Given the description of an element on the screen output the (x, y) to click on. 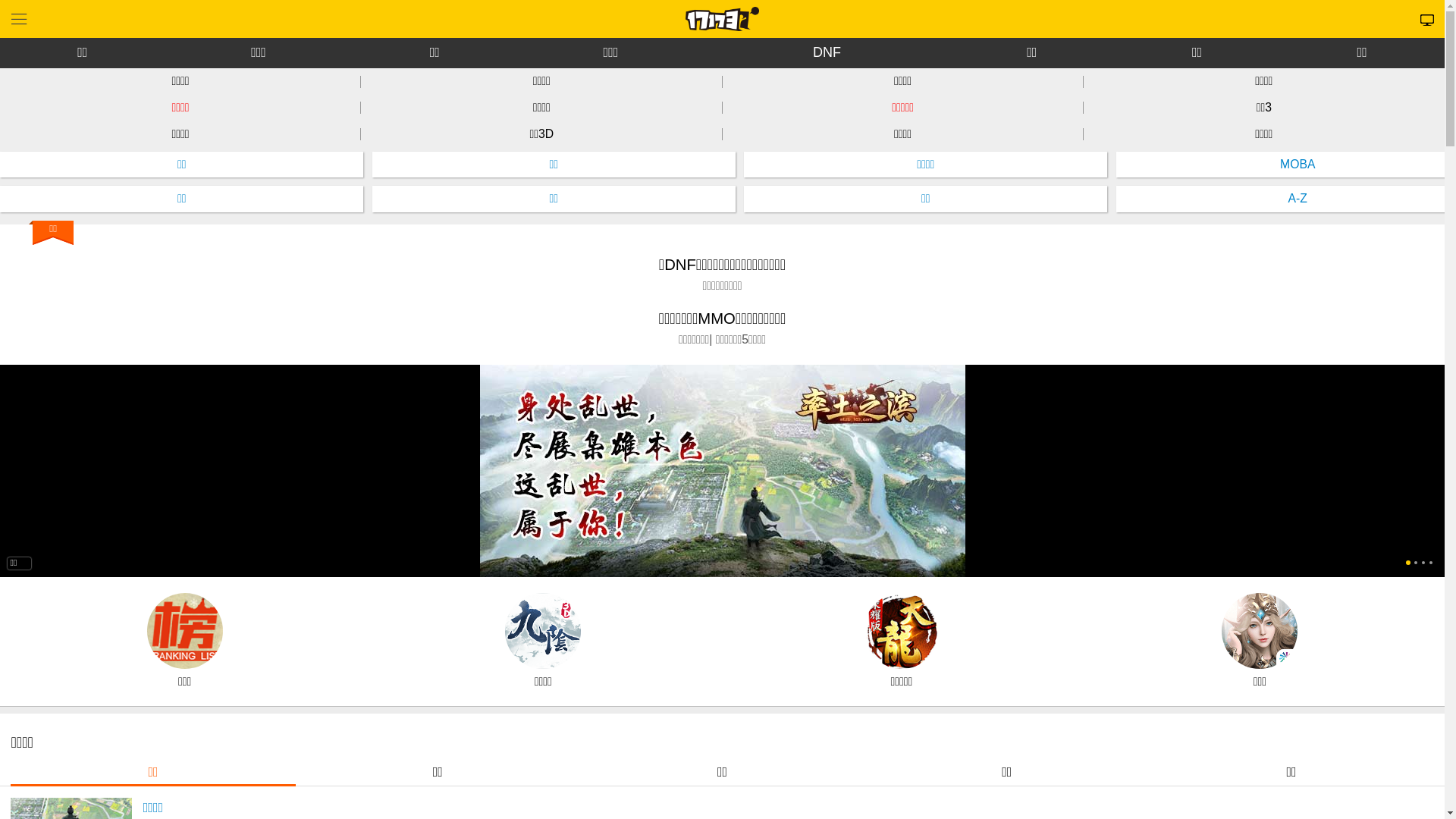
DNF Element type: text (826, 52)
